Given the description of an element on the screen output the (x, y) to click on. 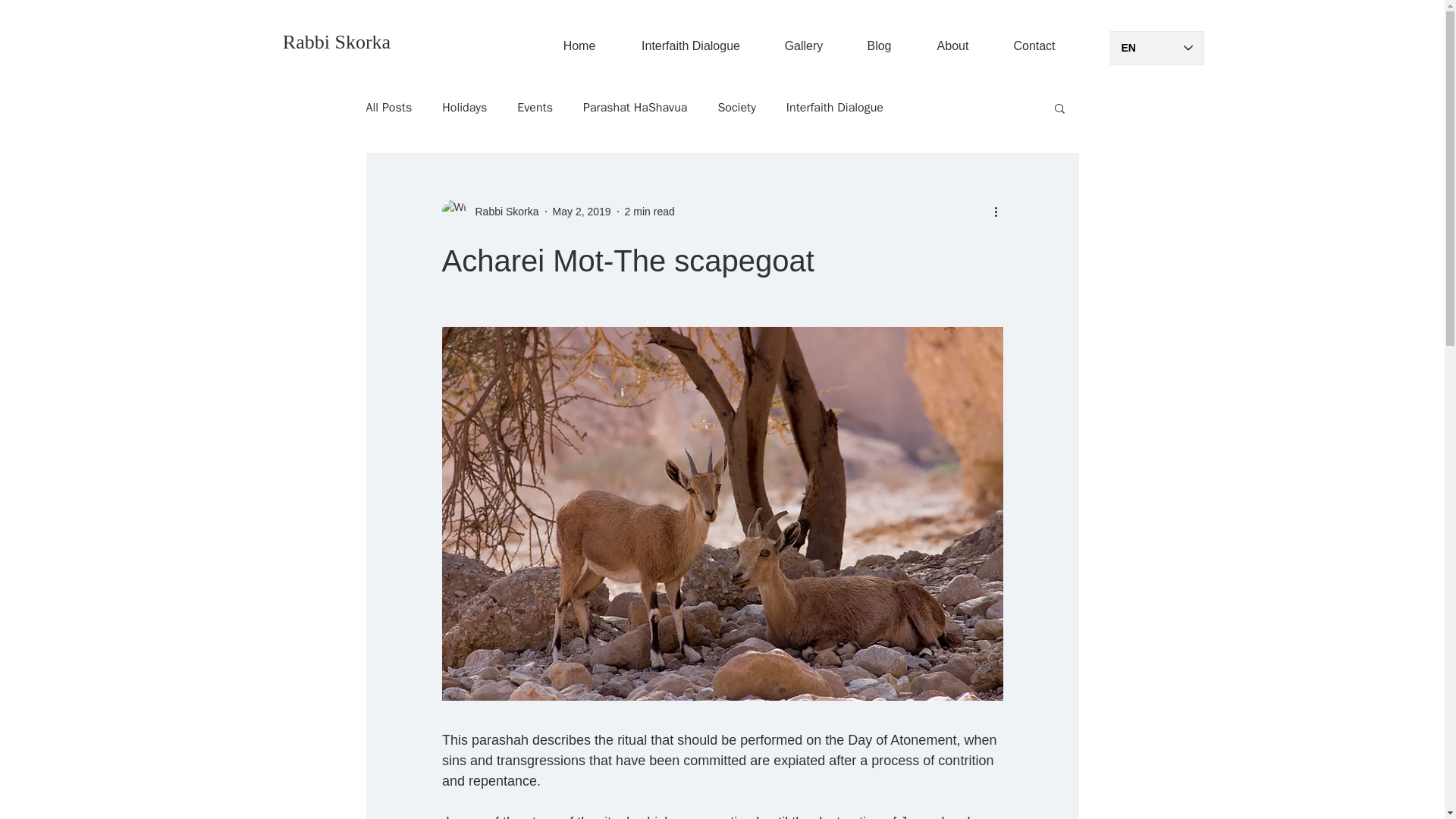
Society (736, 107)
Interfaith Dialogue (834, 107)
Holidays (464, 107)
Parashat HaShavua (635, 107)
Events (534, 107)
Home (578, 46)
Gallery (803, 46)
Rabbi Skorka (336, 42)
Contact (1034, 46)
2 min read (649, 210)
May 2, 2019 (582, 210)
Blog (879, 46)
Interfaith Dialogue (690, 46)
About (952, 46)
All Posts (388, 107)
